Given the description of an element on the screen output the (x, y) to click on. 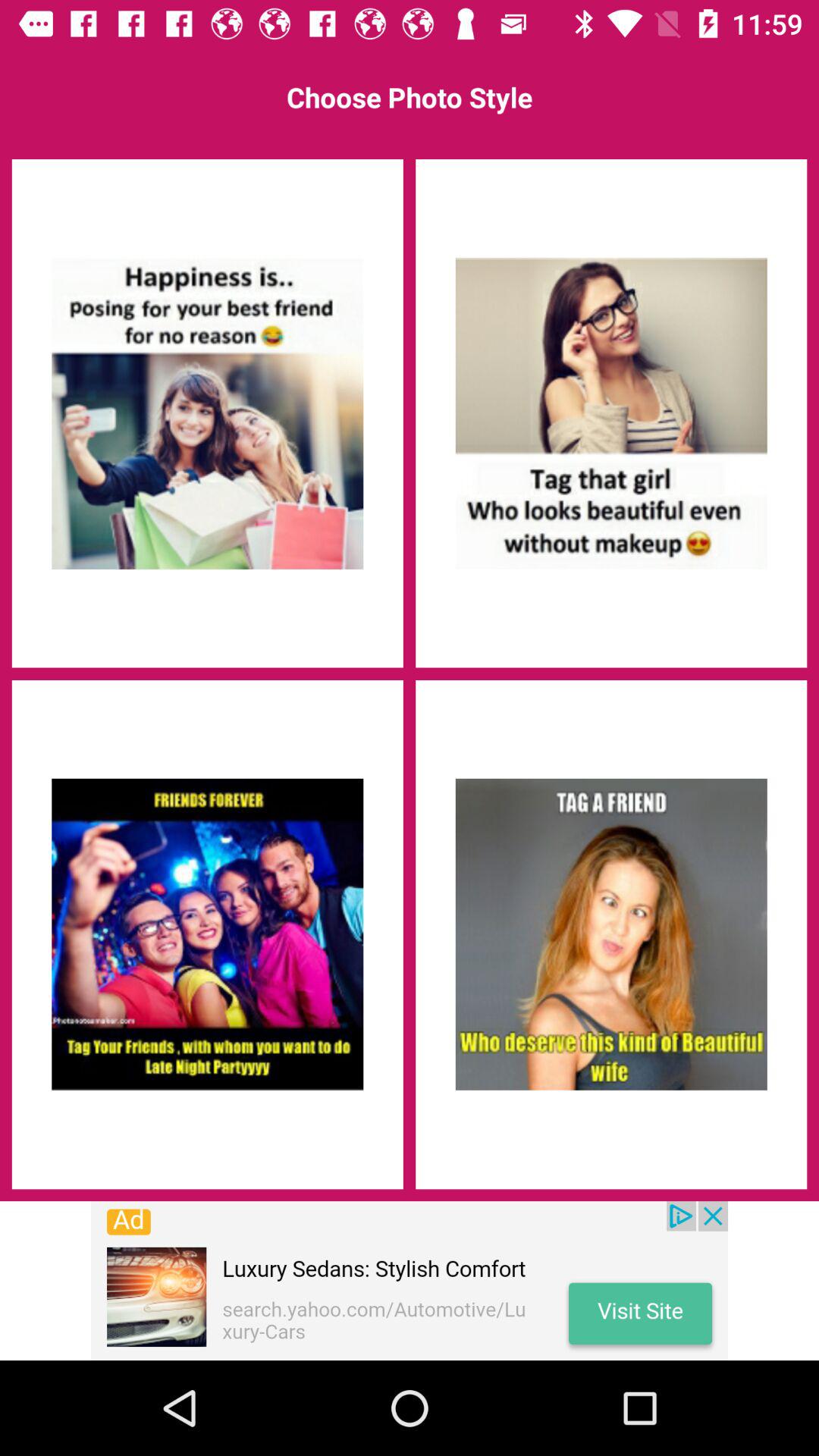
advertisement (207, 413)
